Given the description of an element on the screen output the (x, y) to click on. 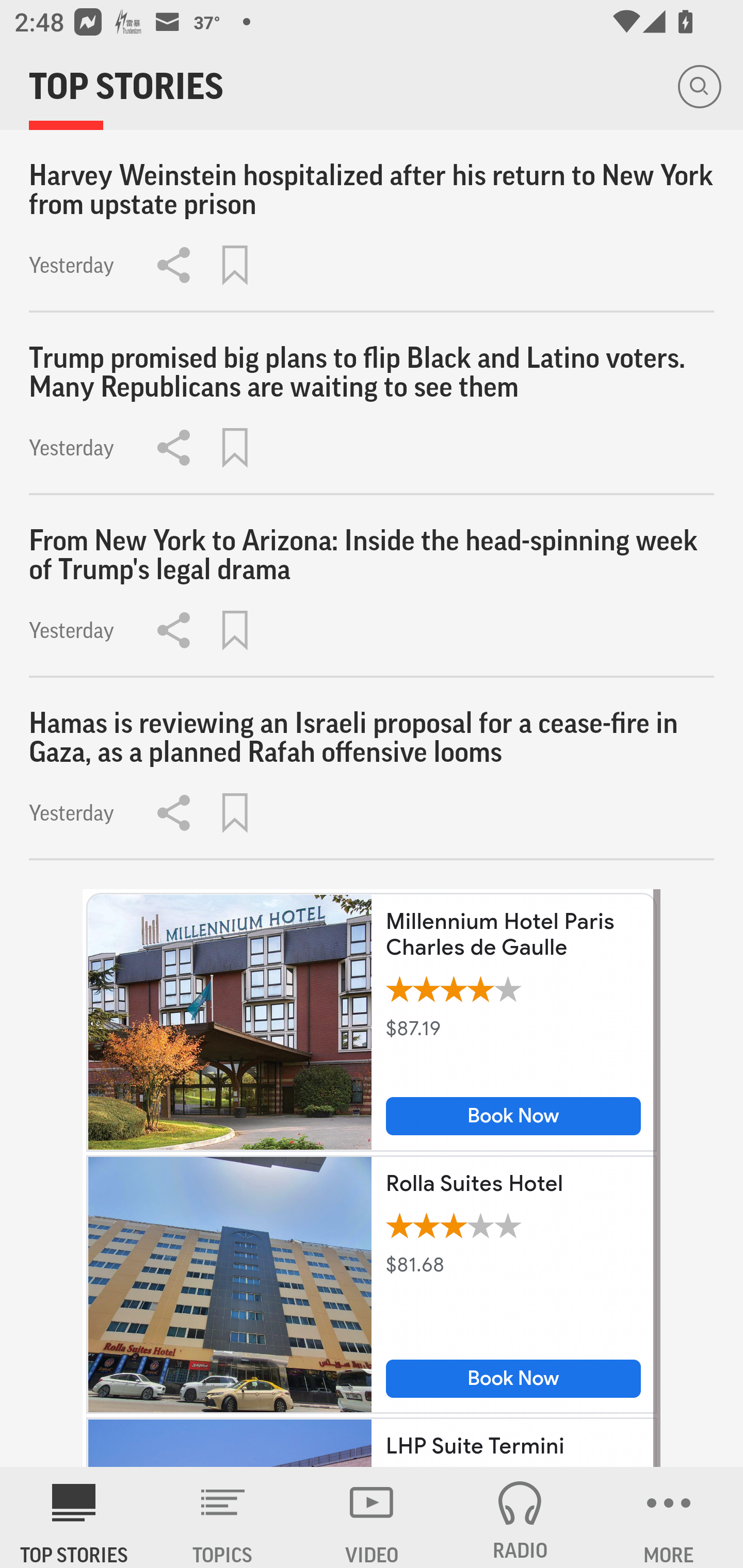
AP News TOP STORIES (74, 1517)
TOPICS (222, 1517)
VIDEO (371, 1517)
RADIO (519, 1517)
MORE (668, 1517)
